Given the description of an element on the screen output the (x, y) to click on. 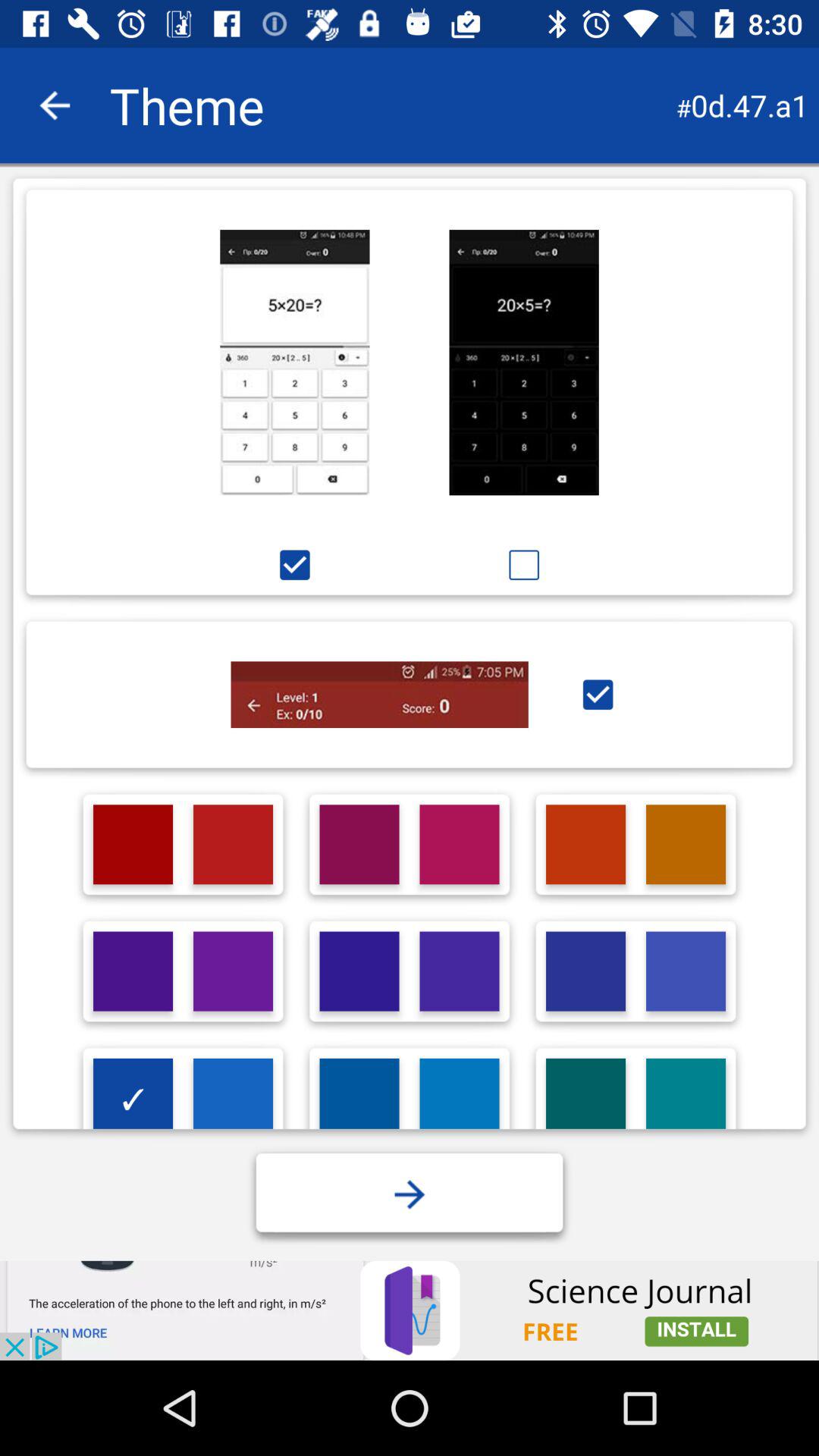
select the theme (459, 844)
